Given the description of an element on the screen output the (x, y) to click on. 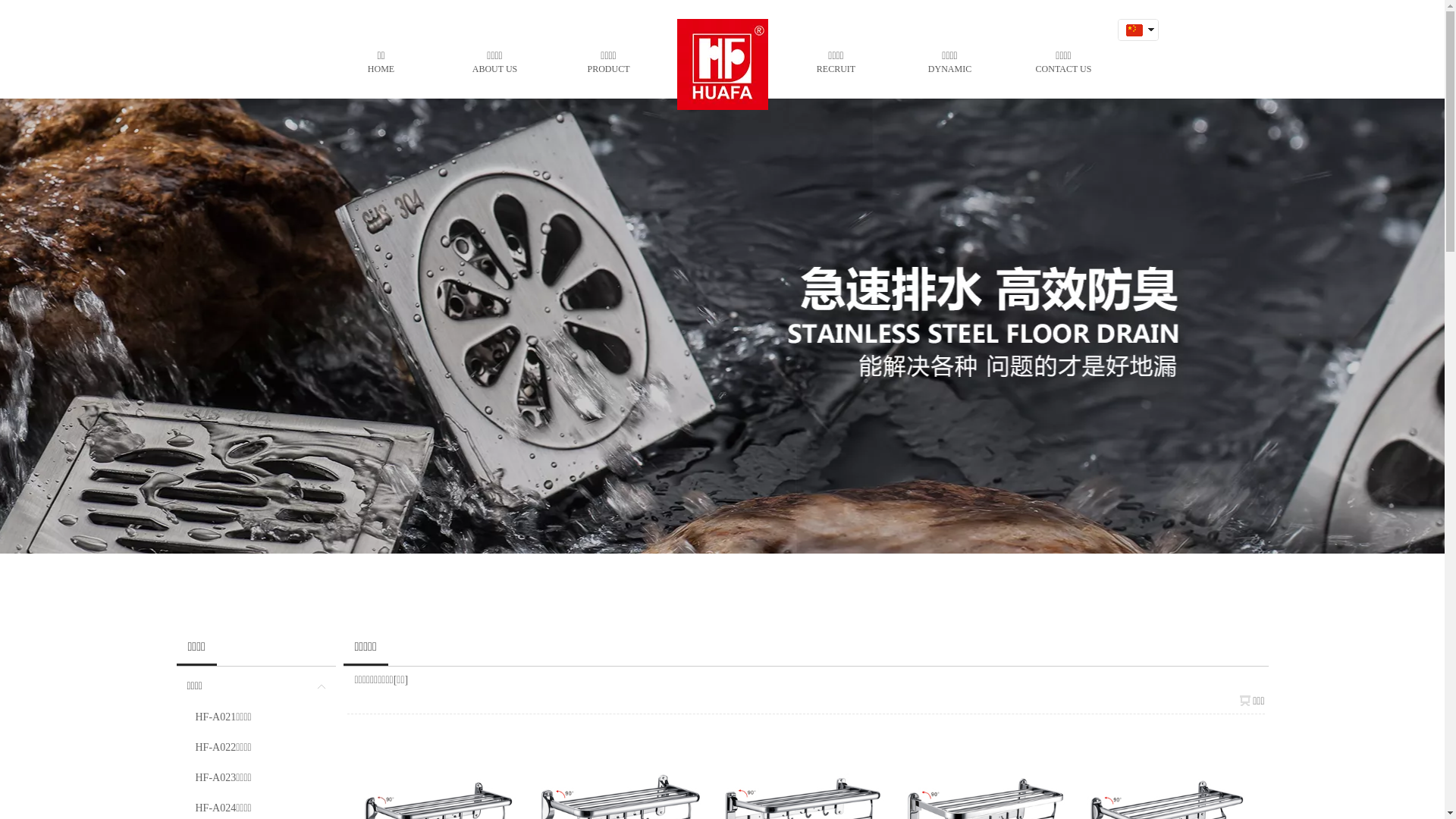
  Element type: text (1133, 29)
. Element type: text (721, 60)
. Element type: text (721, 60)
  Element type: text (1133, 50)
